Given the description of an element on the screen output the (x, y) to click on. 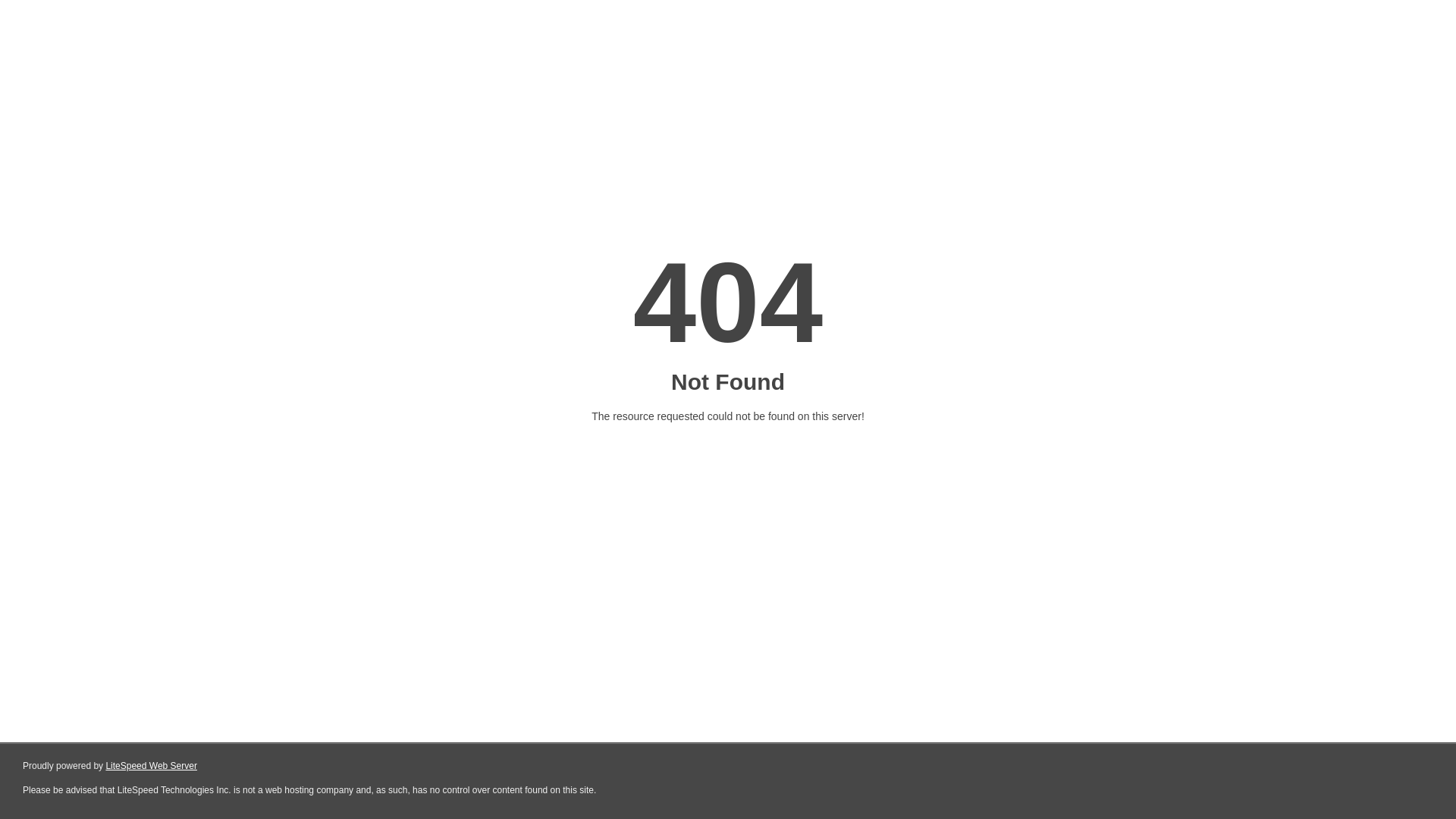
LiteSpeed Web Server Element type: text (151, 765)
